Given the description of an element on the screen output the (x, y) to click on. 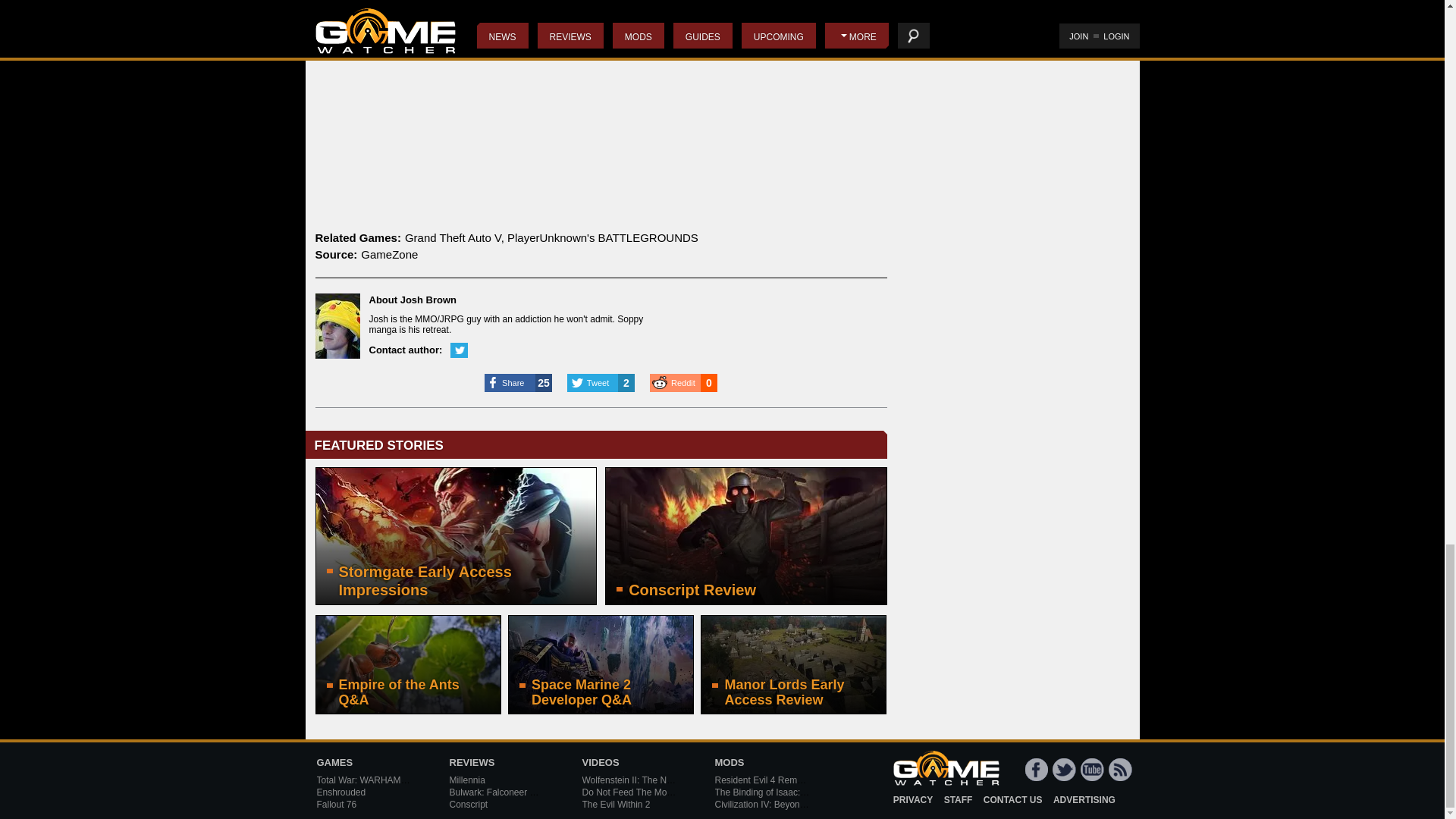
GameZone (389, 254)
PlayerUnknown's BATTLEGROUNDS (602, 237)
Grand Theft Auto V (452, 237)
